Given the description of an element on the screen output the (x, y) to click on. 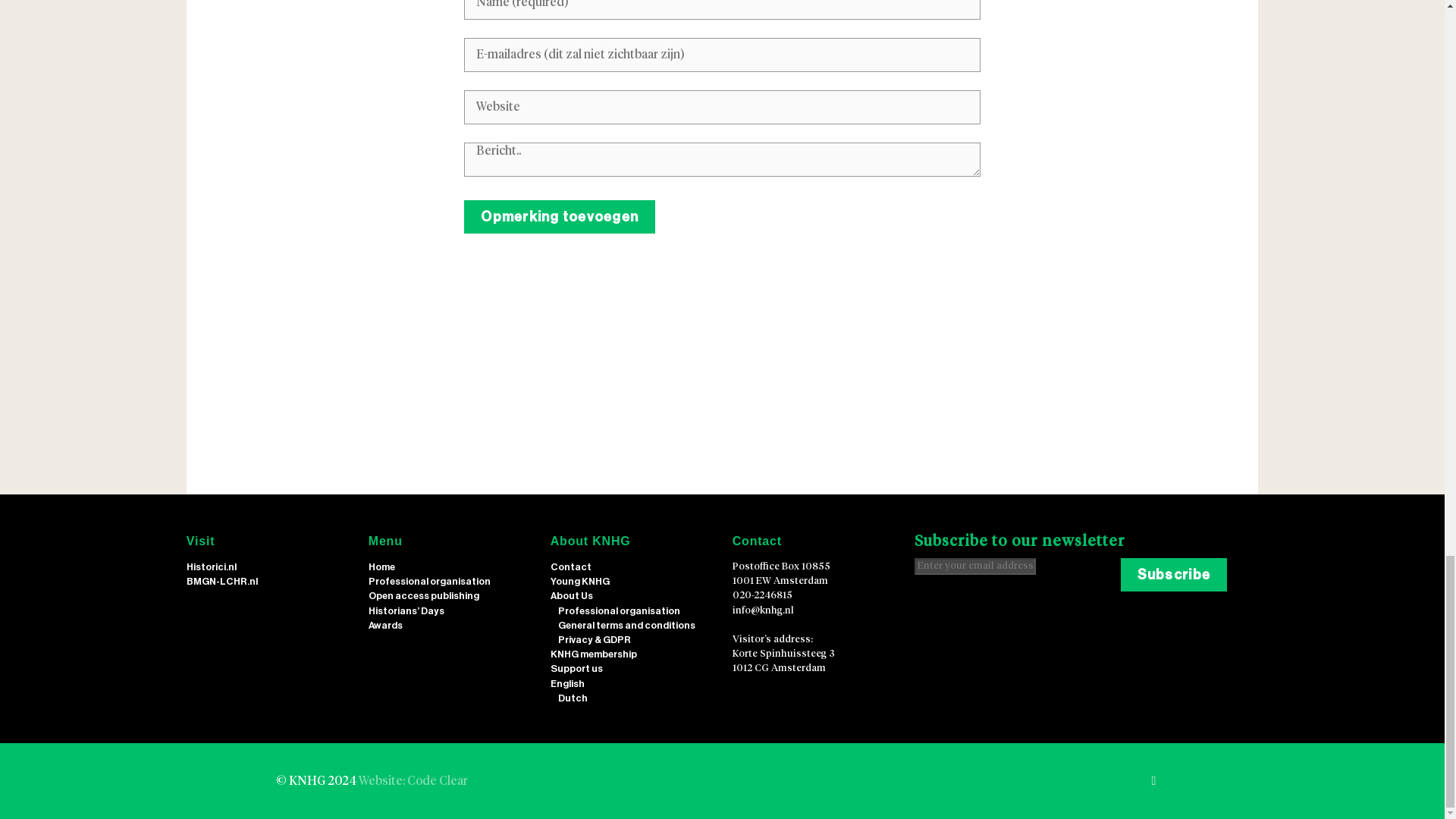
Open access publishing (423, 595)
Professional organisation (429, 581)
Subscribe (1174, 574)
BMGN-LCHR.nl (221, 581)
Professional organisation (618, 610)
About Us (571, 595)
Contact (570, 566)
Opmerking toevoegen (559, 216)
Young KNHG (580, 581)
Awards (385, 625)
